Given the description of an element on the screen output the (x, y) to click on. 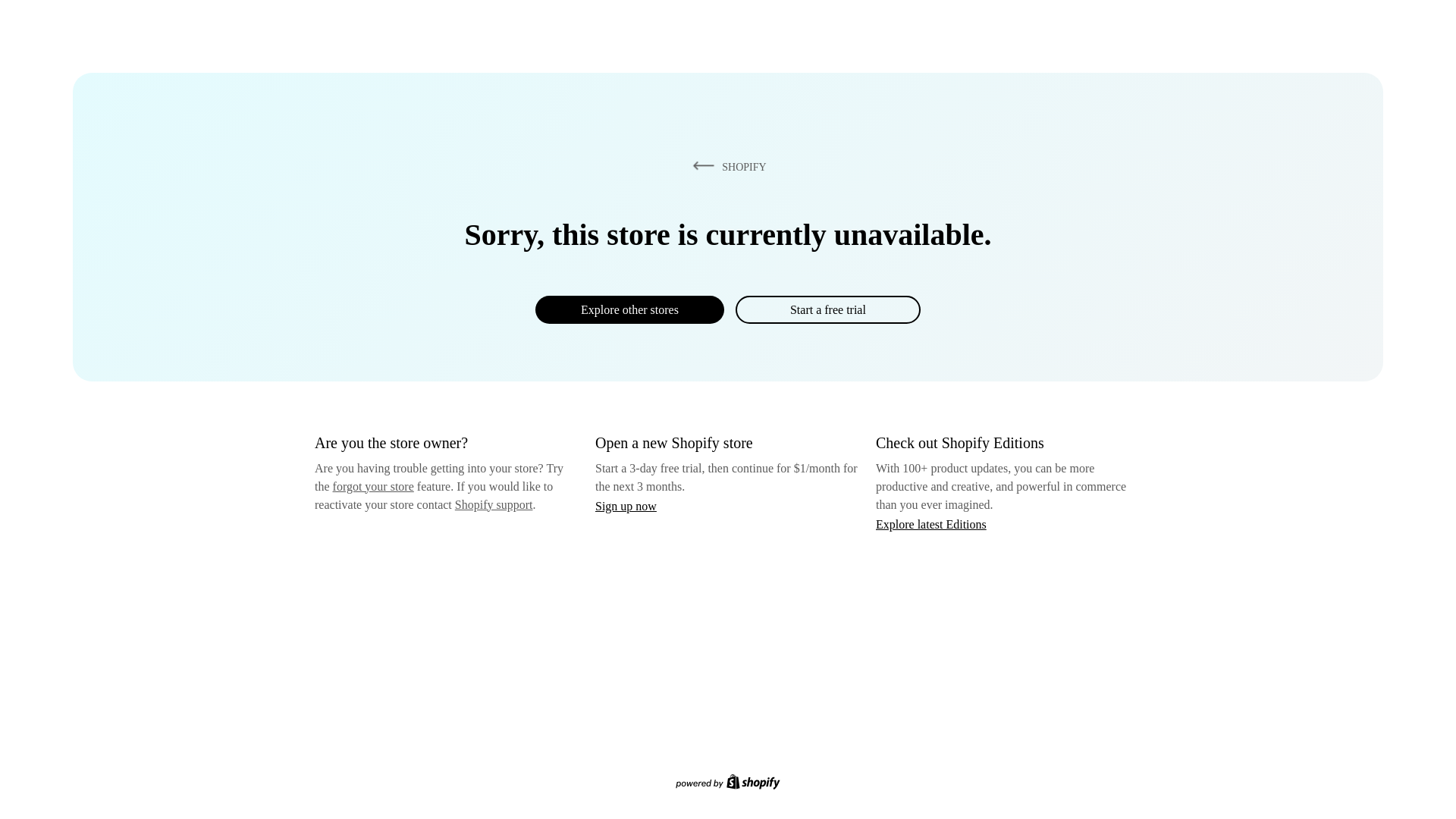
Start a free trial (827, 309)
Explore latest Editions (931, 523)
Shopify support (493, 504)
forgot your store (373, 486)
Explore other stores (629, 309)
SHOPIFY (726, 166)
Sign up now (625, 505)
